Given the description of an element on the screen output the (x, y) to click on. 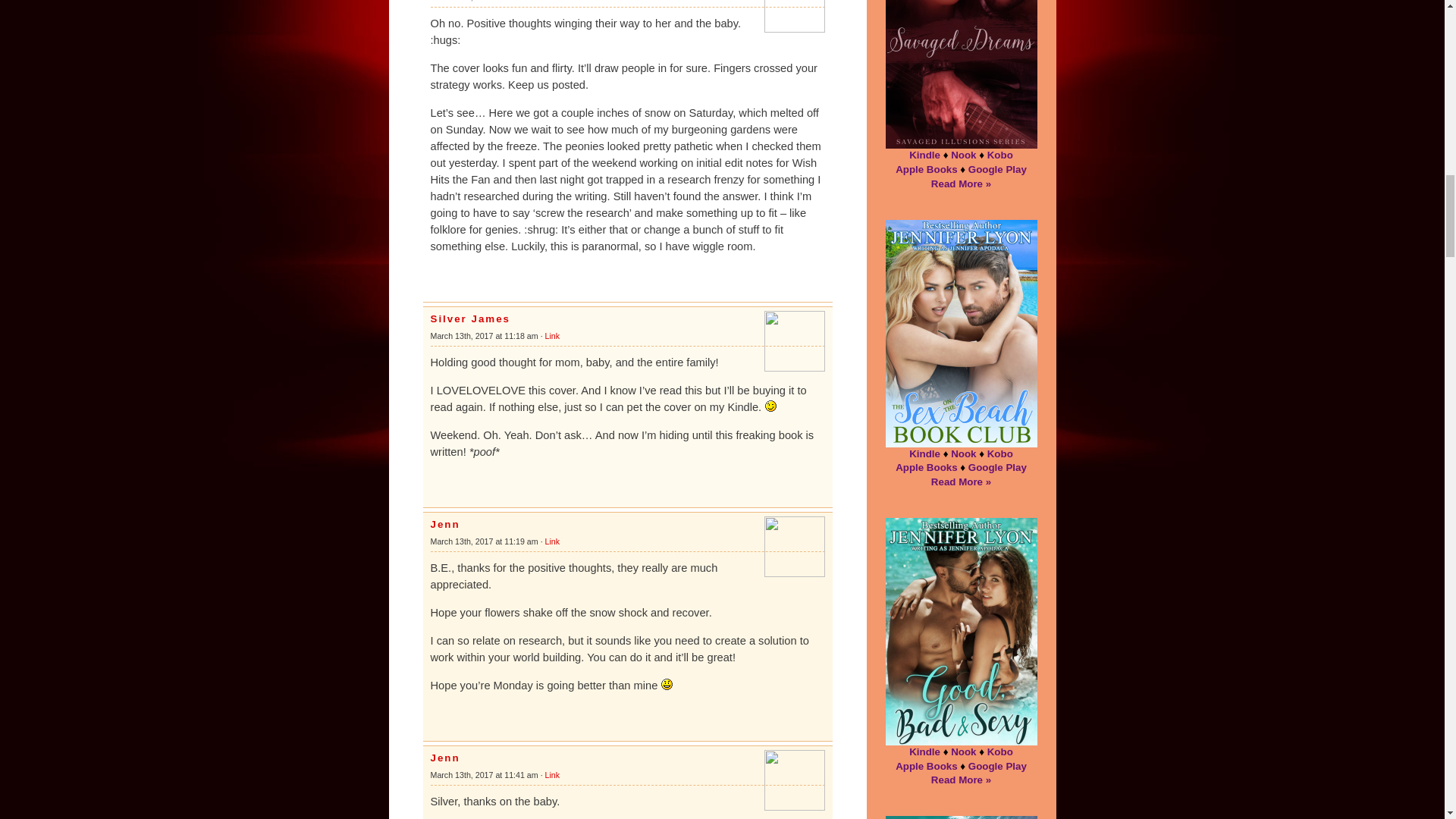
Silver James (470, 318)
Link (552, 774)
Link (552, 335)
Link (552, 541)
Jenn (445, 523)
Jenn (445, 757)
